Given the description of an element on the screen output the (x, y) to click on. 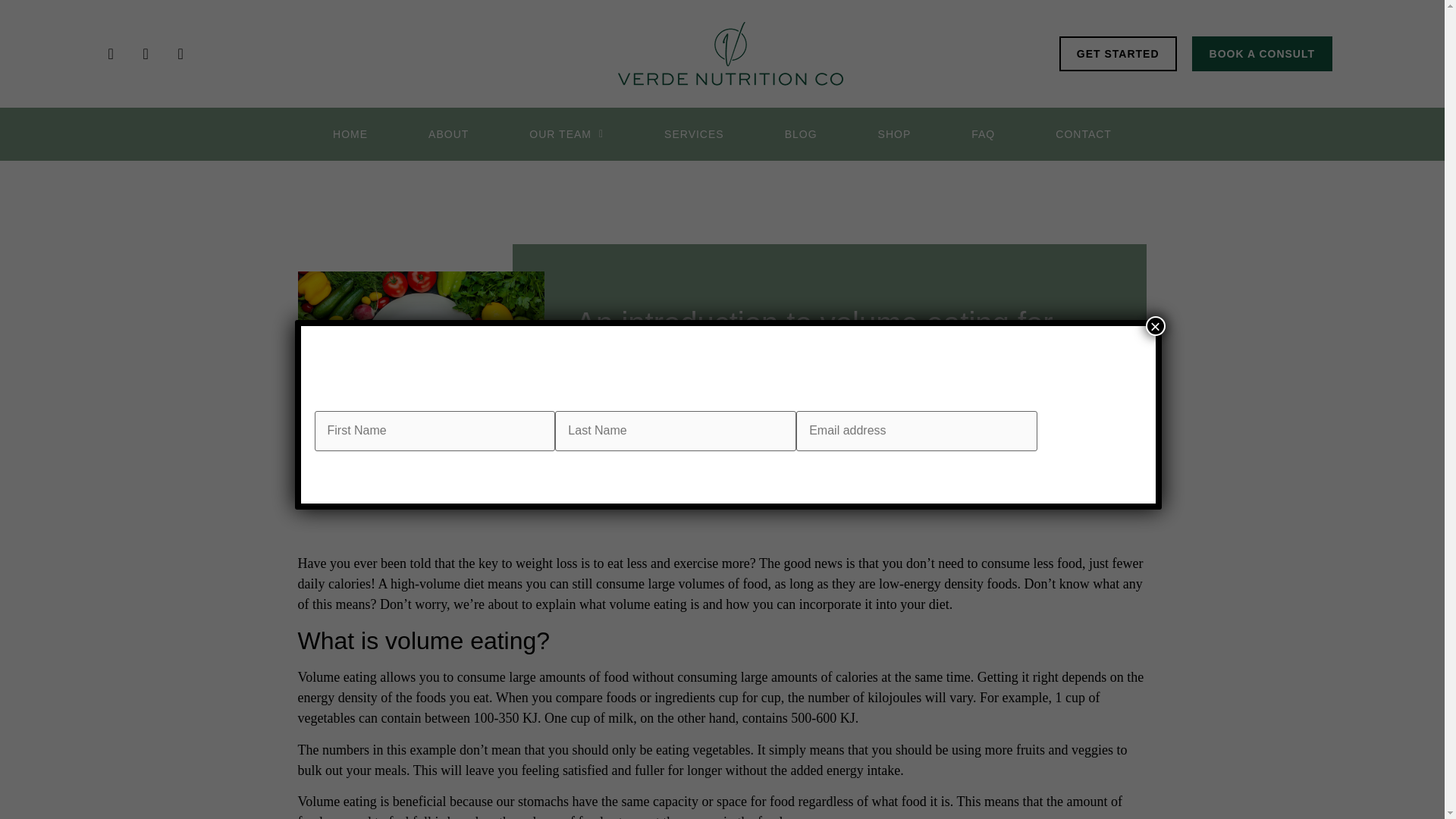
Subscribe (1088, 431)
SERVICES (693, 133)
CONTACT (1083, 133)
BLOG (800, 133)
GET STARTED (1117, 53)
BOOK A CONSULT (1262, 53)
HOME (350, 133)
OUR TEAM (566, 133)
ABOUT (448, 133)
FAQ (982, 133)
SHOP (894, 133)
